Given the description of an element on the screen output the (x, y) to click on. 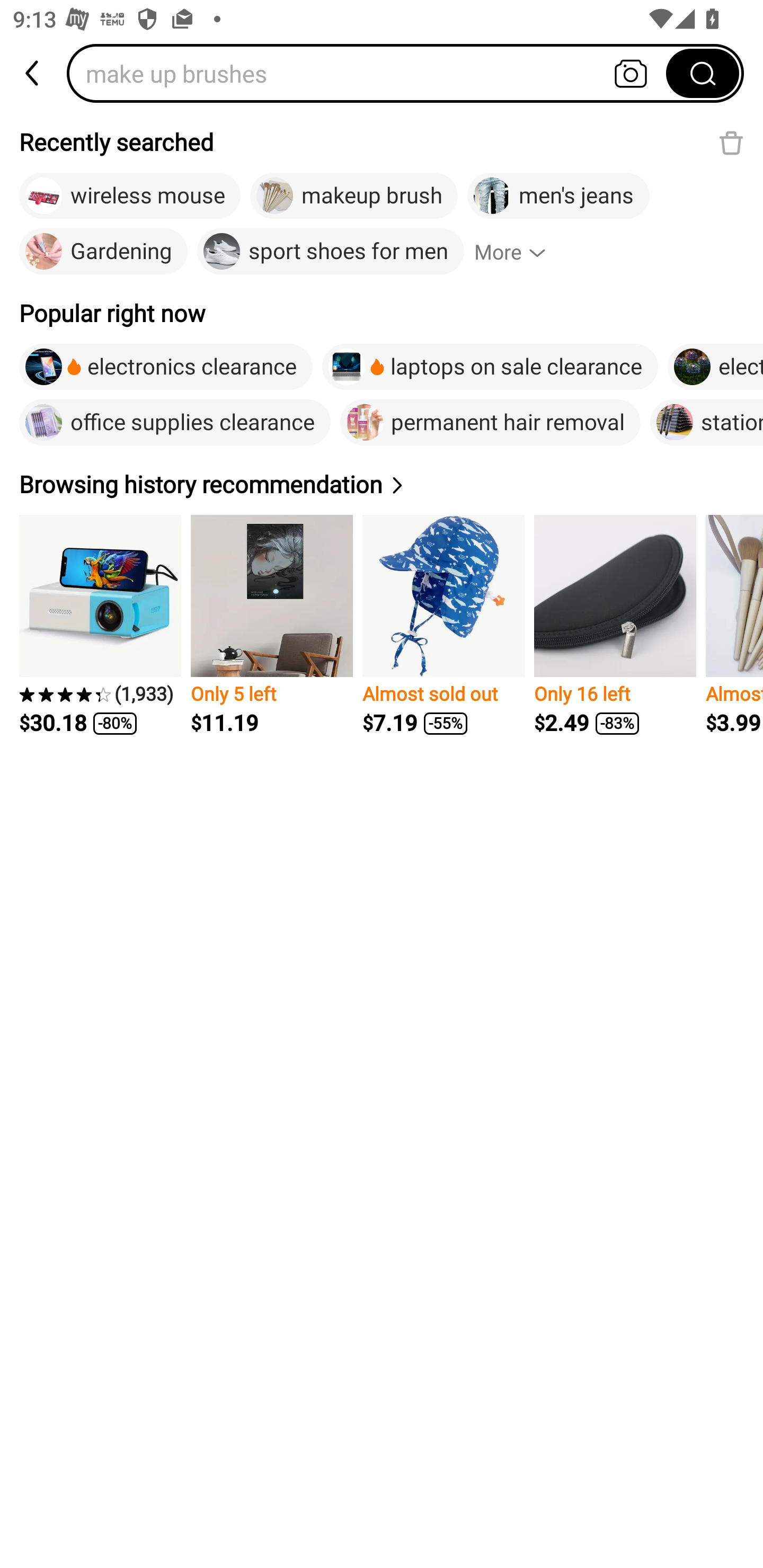
back (33, 72)
make up brushes (372, 73)
Search by photo (630, 73)
Delete recent search (731, 142)
wireless mouse (129, 195)
makeup brush (353, 195)
men's jeans (557, 195)
Gardening (103, 251)
sport shoes for men (329, 251)
More (518, 251)
electronics clearance (165, 366)
laptops on sale clearance (489, 366)
electronics (715, 366)
office supplies clearance (174, 422)
permanent hair removal (490, 422)
stationery clearance (706, 422)
Browsing history recommendation (213, 484)
(1,933) $30.18 -80% (100, 625)
Only 5 left $11.19 (271, 625)
Almost sold out $7.19 -55% (443, 625)
Only 16 left $2.49 -83% (614, 625)
